Given the description of an element on the screen output the (x, y) to click on. 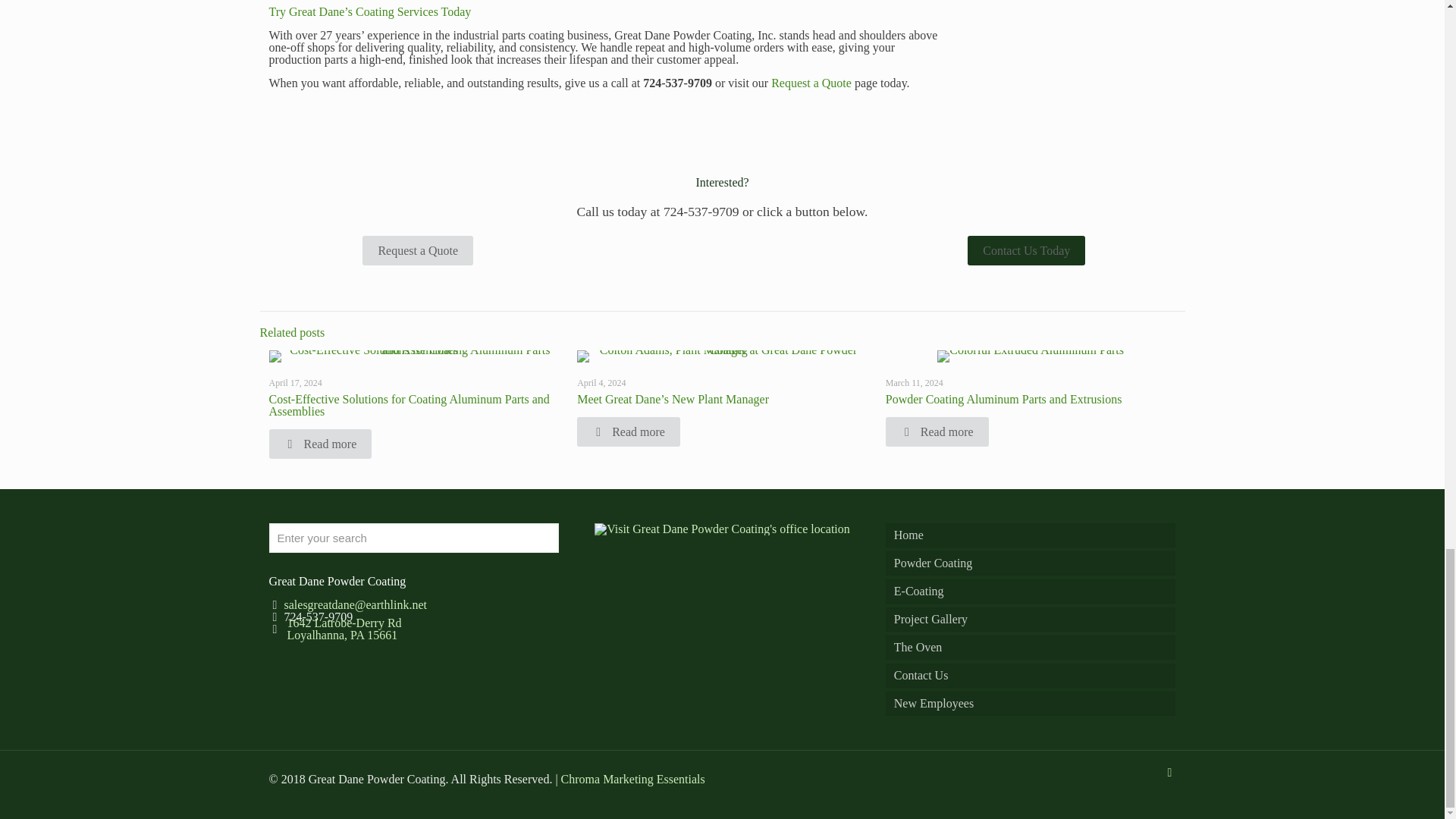
Contact Us Today (1026, 250)
Request a Quote (811, 82)
Request a Quote (417, 250)
Read more (319, 443)
Read more (627, 431)
